Given the description of an element on the screen output the (x, y) to click on. 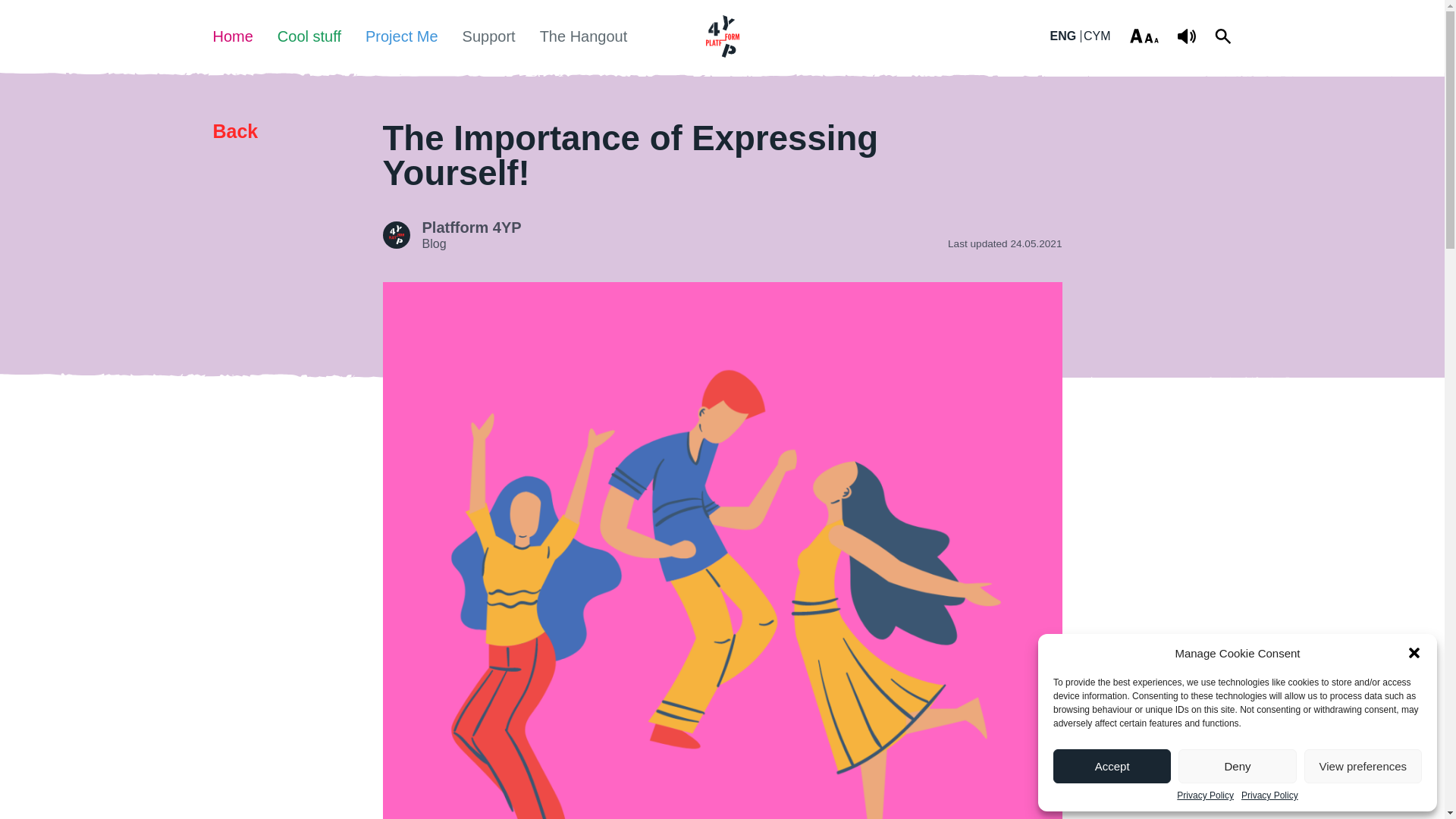
Use screen reader (1185, 36)
Back (234, 131)
Blog (433, 243)
Cymraeg (1094, 36)
English (1064, 36)
Privacy Policy (1269, 795)
Accept (1111, 765)
Cool stuff (309, 36)
The Hangout (583, 36)
Change font size (1143, 36)
